Given the description of an element on the screen output the (x, y) to click on. 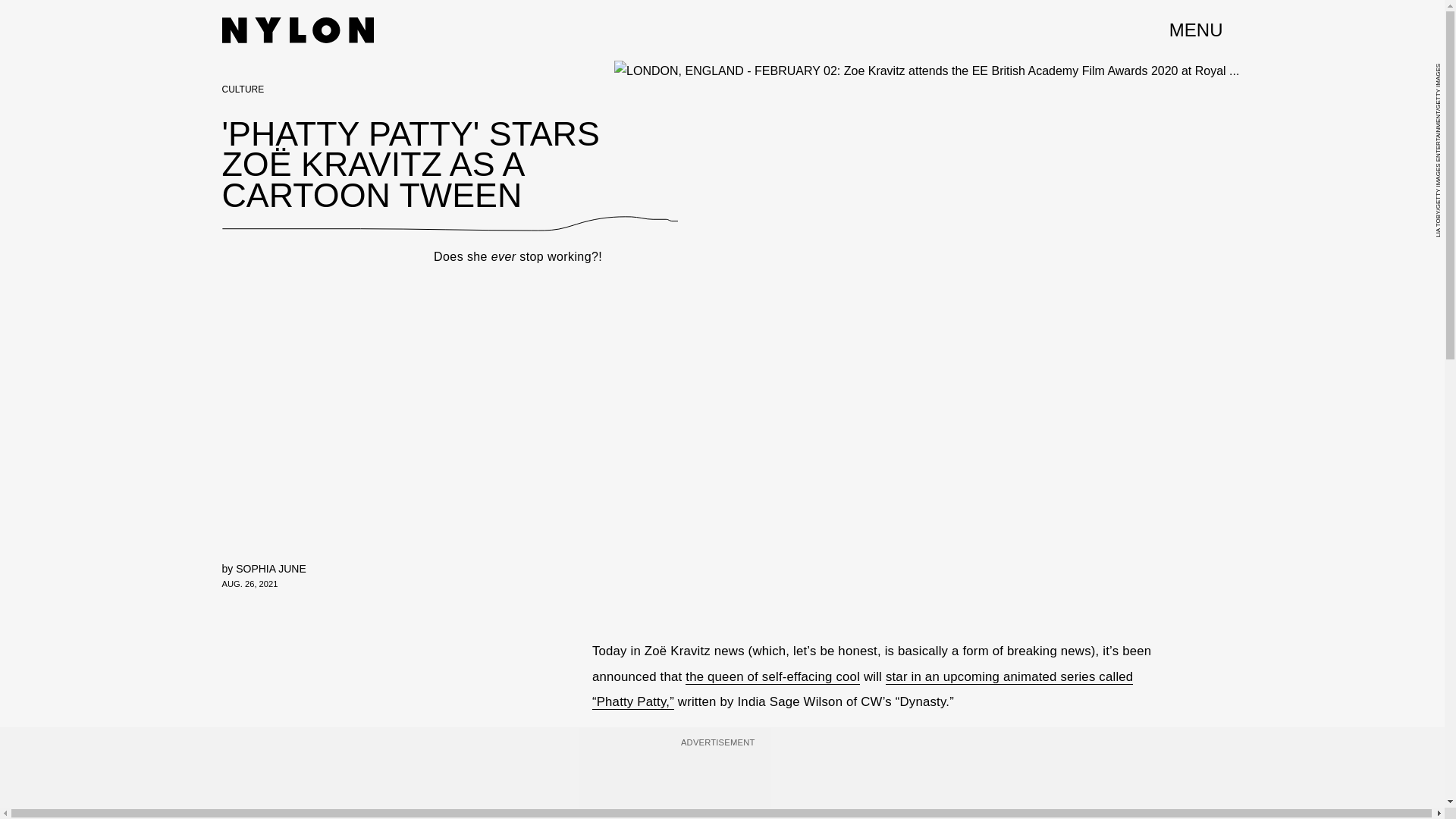
SOPHIA JUNE (270, 568)
the queen of self-effacing cool (772, 676)
Nylon (296, 30)
